Given the description of an element on the screen output the (x, y) to click on. 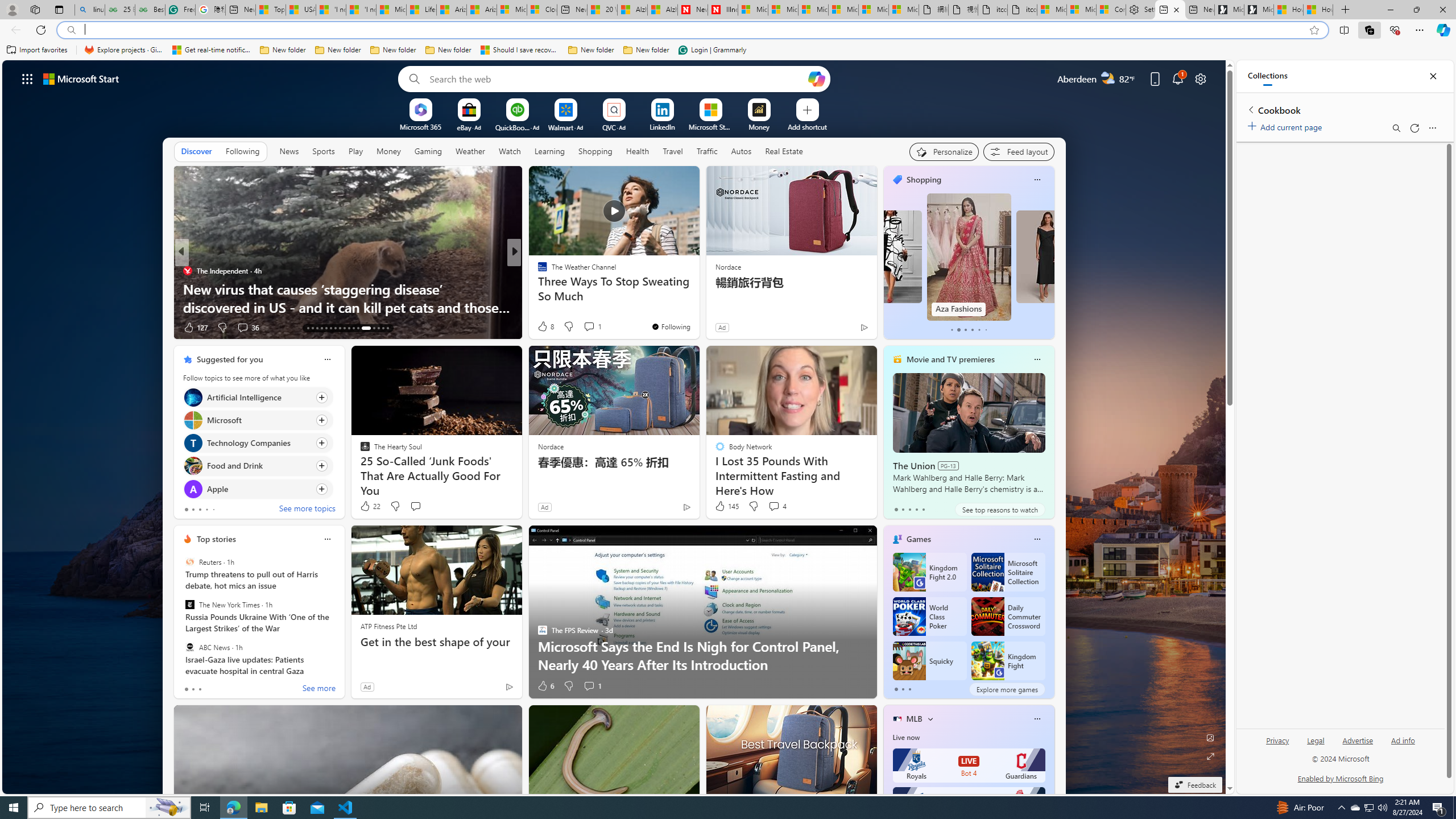
More options menu (1432, 127)
AutomationID: tab-20 (339, 328)
AutomationID: tab-24 (358, 328)
Should I save recovered Word documents? - Microsoft Support (519, 49)
Click to follow topic Apple (257, 488)
